Given the description of an element on the screen output the (x, y) to click on. 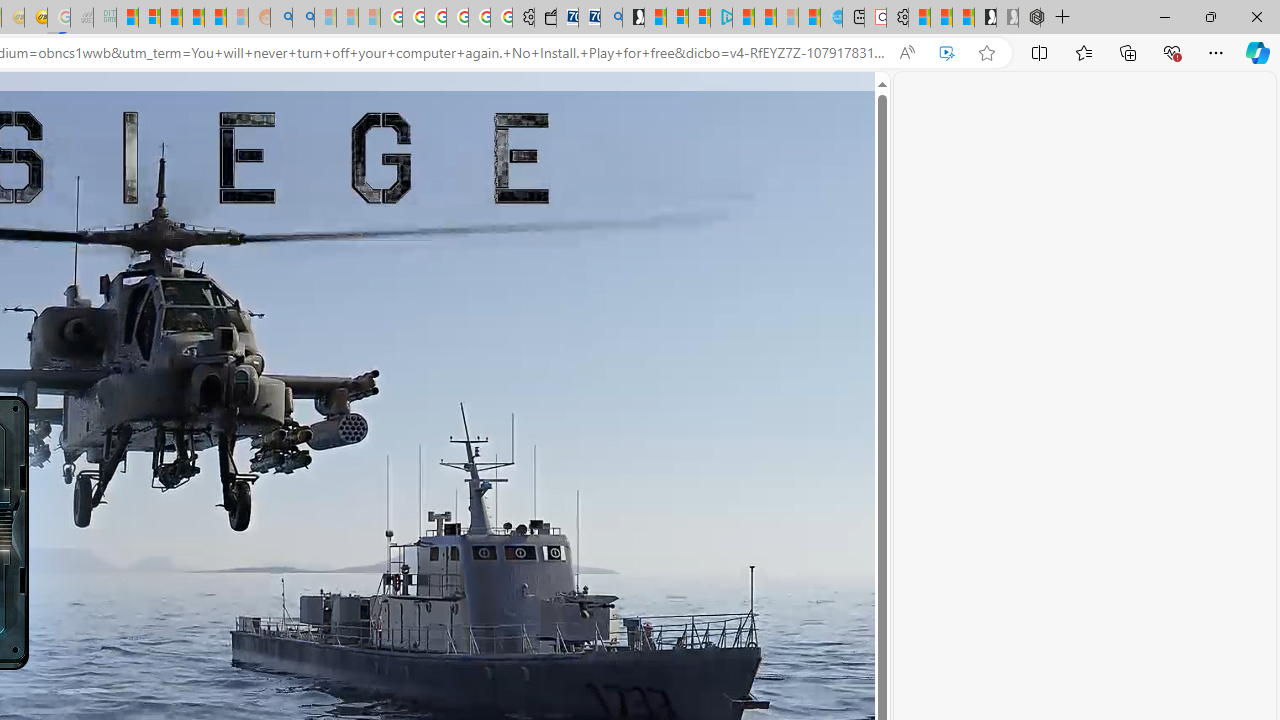
Home | Sky Blue Bikes - Sky Blue Bikes (831, 17)
